Given the description of an element on the screen output the (x, y) to click on. 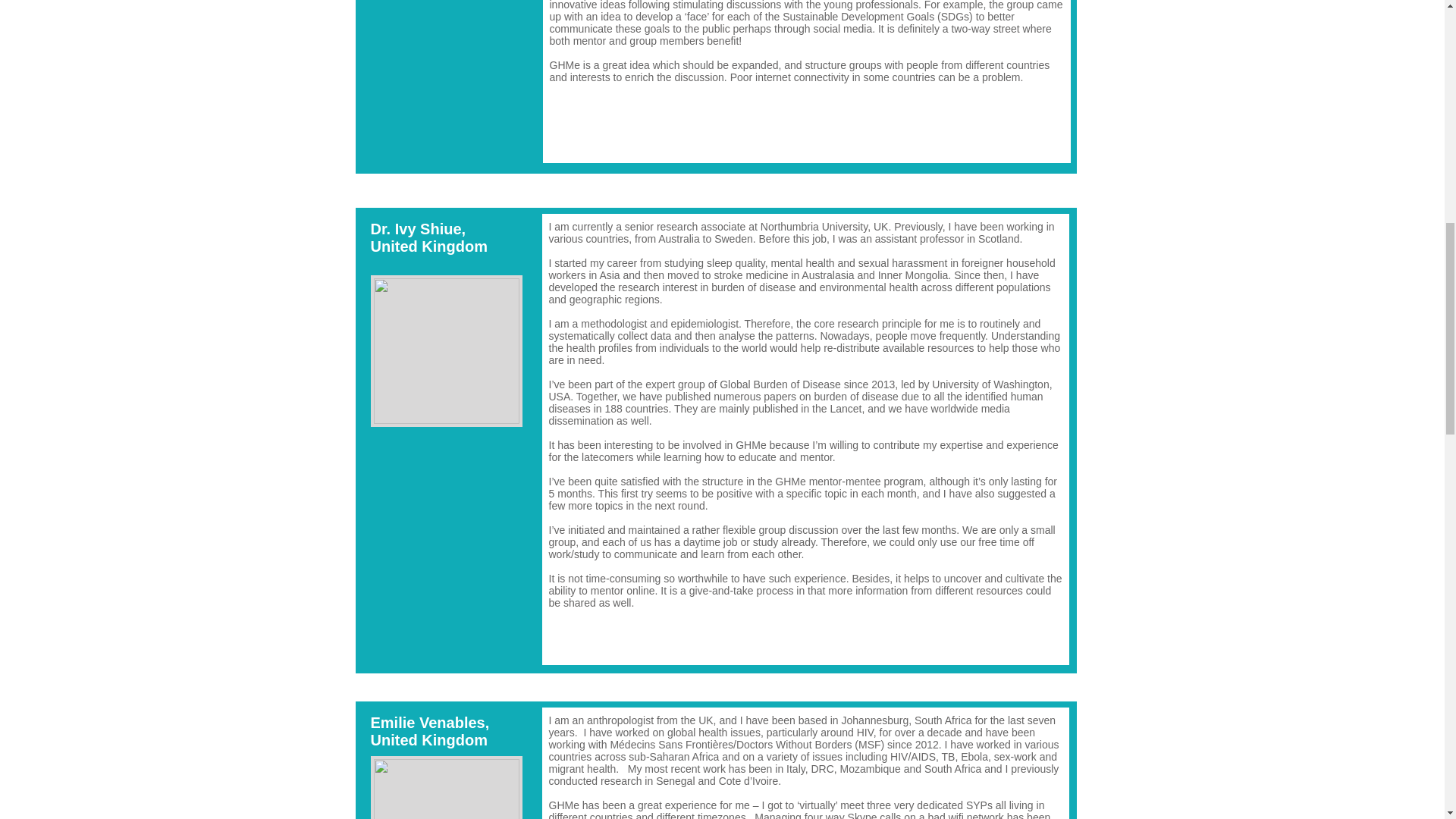
Ivy 2.jpg (445, 350)
